Given the description of an element on the screen output the (x, y) to click on. 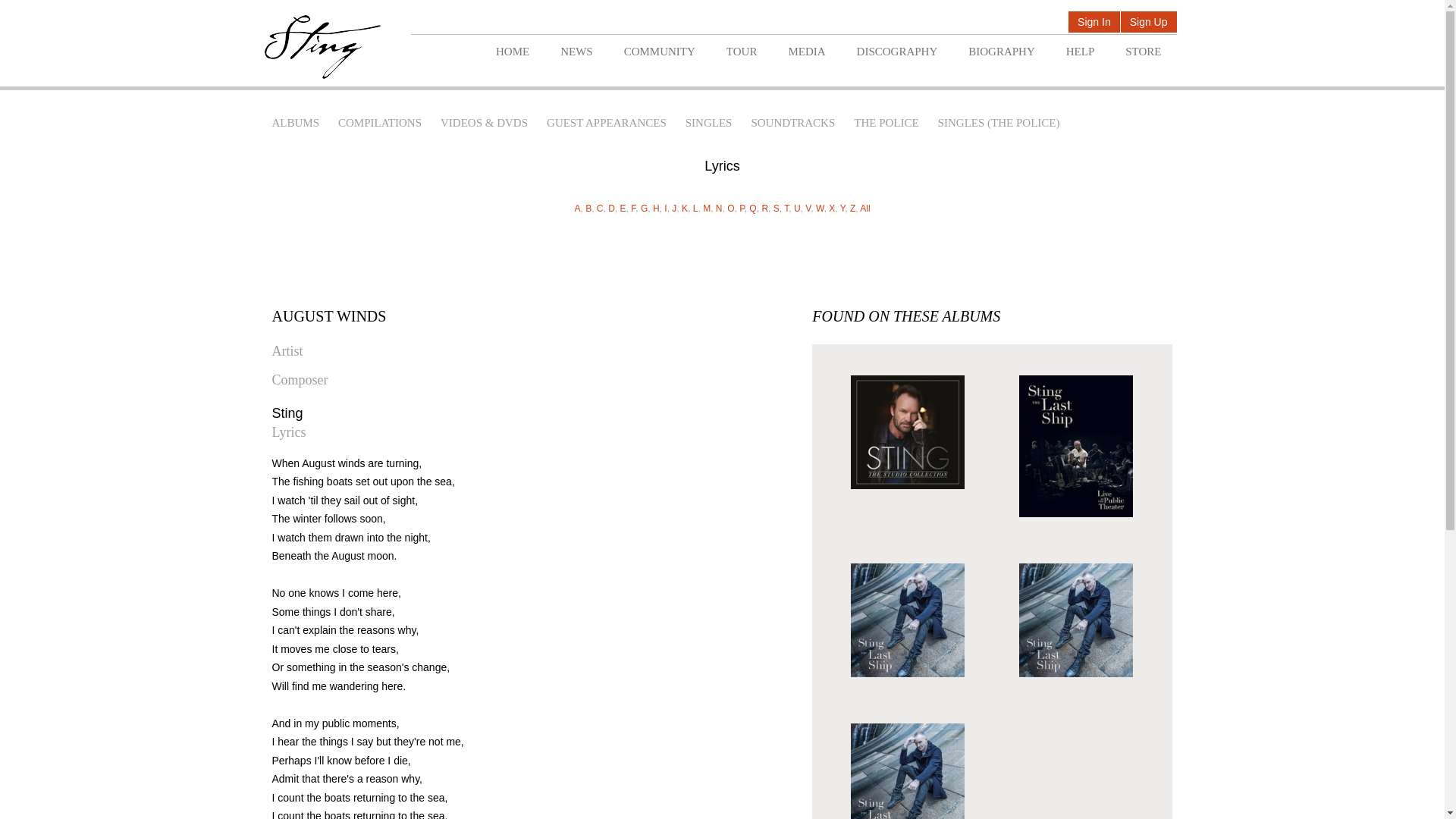
SOUNDTRACKS (792, 122)
G (645, 208)
COMMUNITY (659, 51)
NEWS (576, 51)
MEDIA (806, 51)
HELP (1080, 51)
Sign Up (1148, 22)
DISCOGRAPHY (897, 51)
Sign In (1093, 22)
TOUR (742, 51)
ALBUMS (294, 122)
THE POLICE (885, 122)
Sting (321, 46)
BIOGRAPHY (1001, 51)
GUEST APPEARANCES (606, 122)
